Given the description of an element on the screen output the (x, y) to click on. 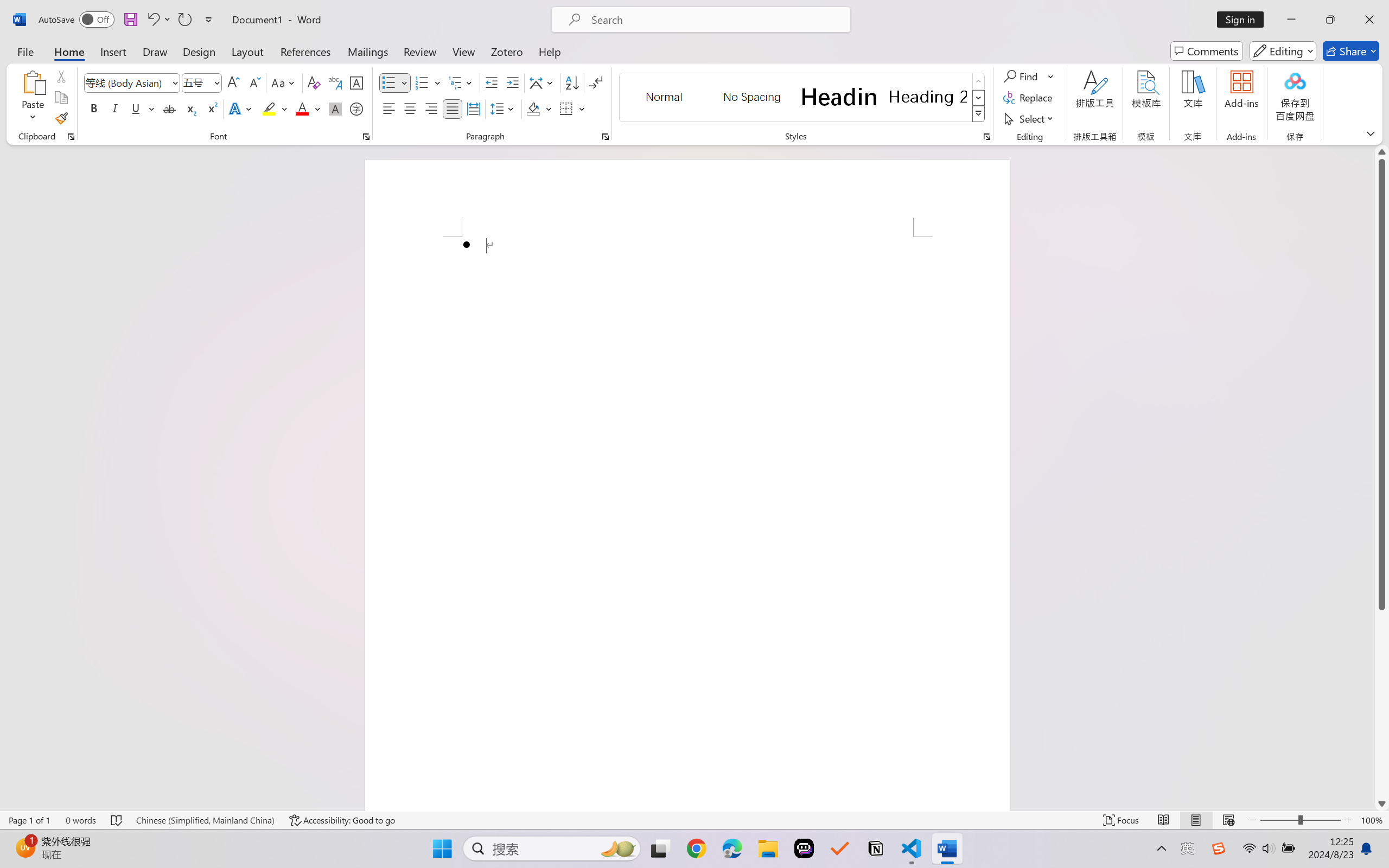
Sign in (1244, 19)
